Given the description of an element on the screen output the (x, y) to click on. 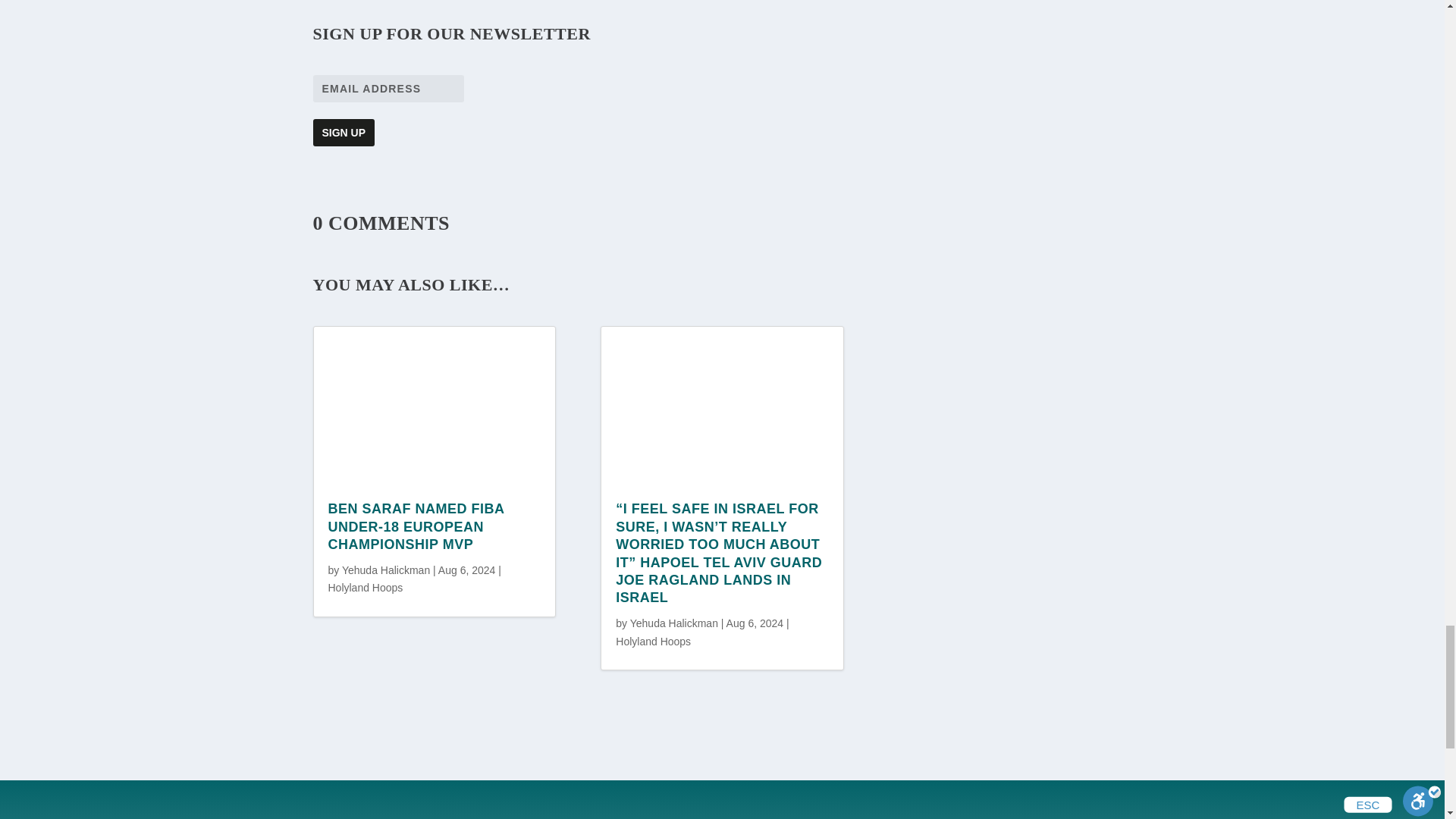
Sign up (343, 132)
